Given the description of an element on the screen output the (x, y) to click on. 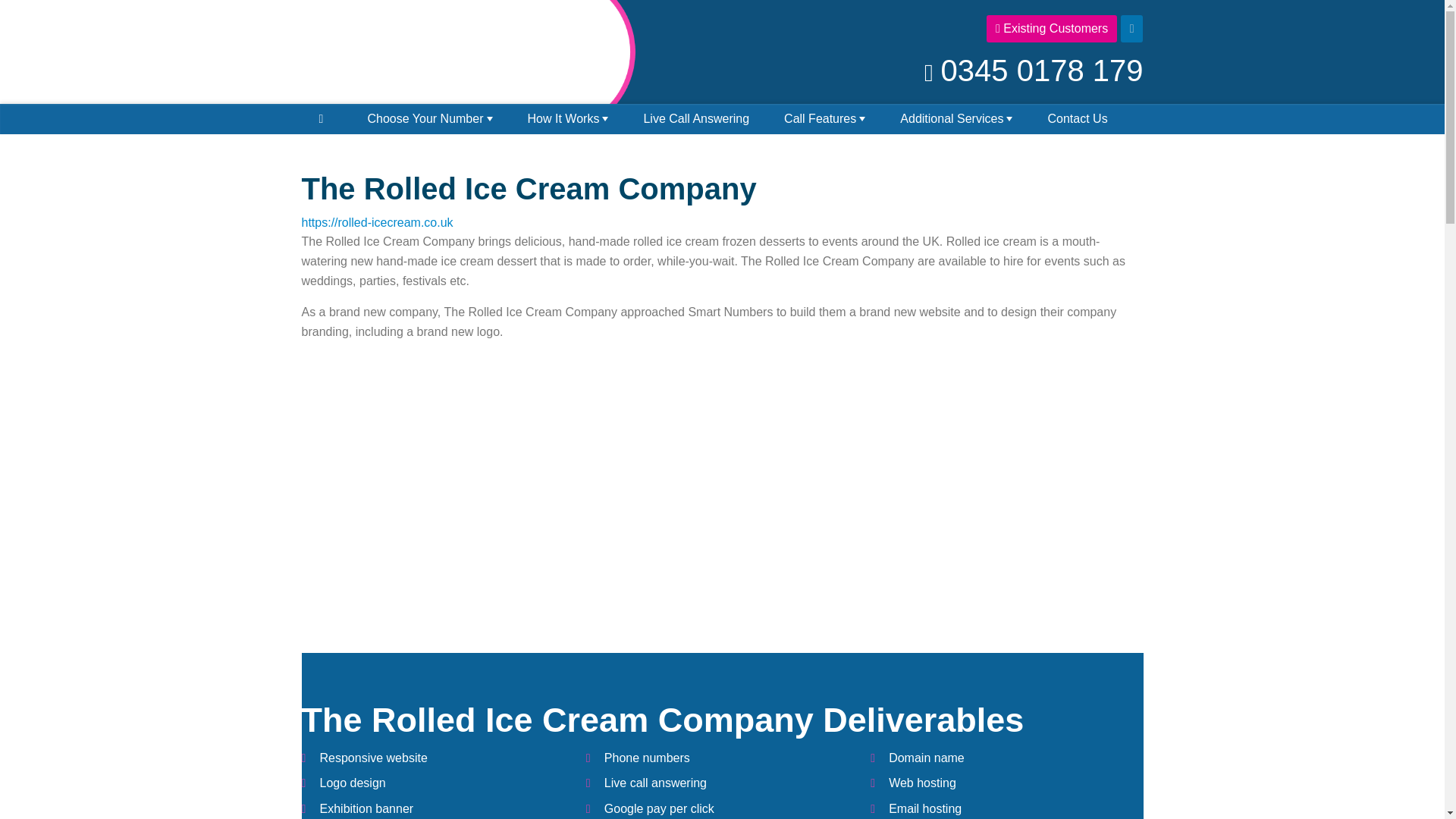
Choose Your Number (429, 119)
How It Works (567, 119)
Existing Customers (1051, 28)
How it Works (567, 119)
Live Call Answering (696, 119)
Choose your Number (429, 119)
Call Features (823, 119)
 0345 0178 179 (1032, 70)
Call Features (823, 119)
Live Call Answering (696, 119)
